Given the description of an element on the screen output the (x, y) to click on. 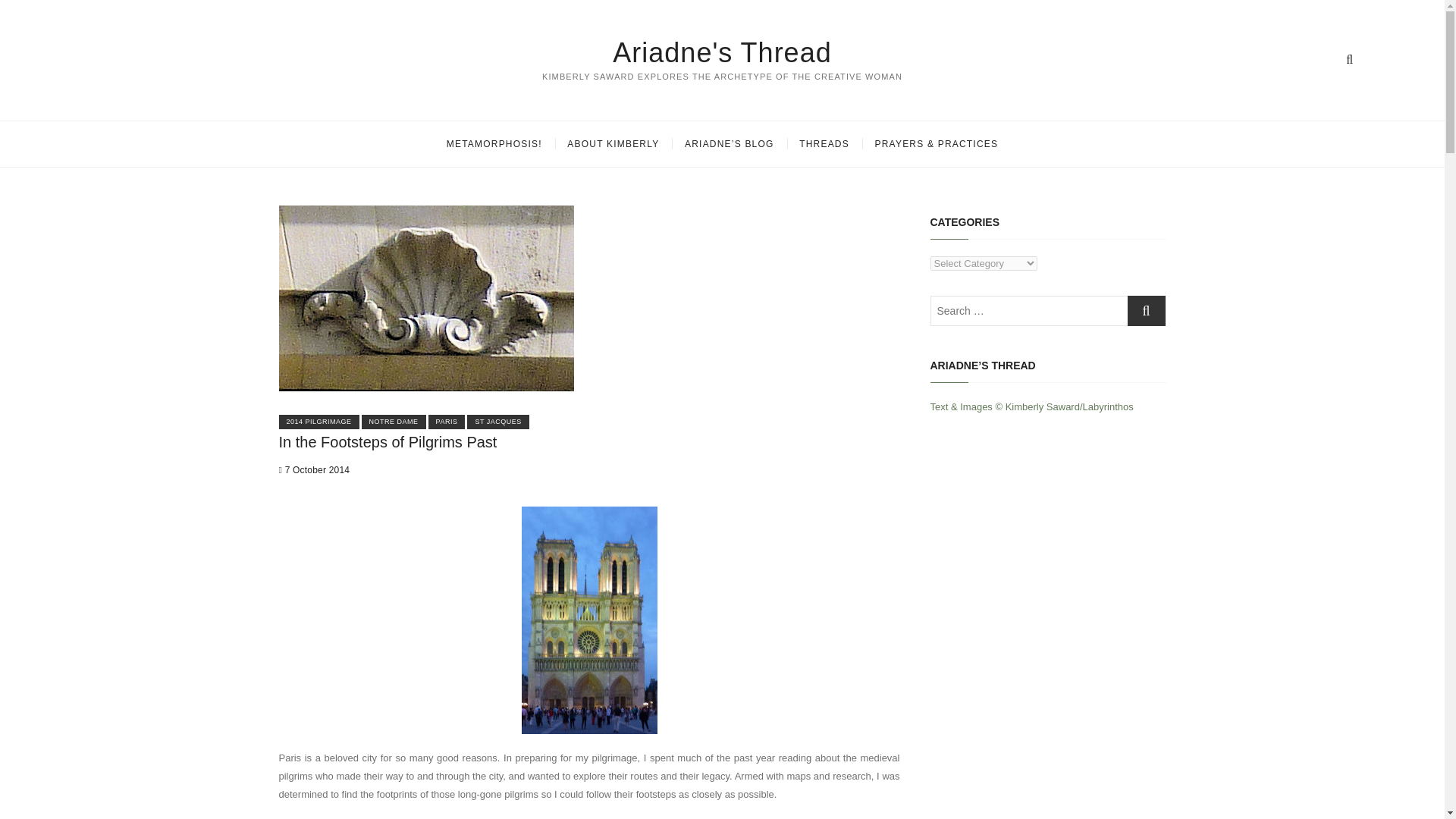
ABOUT KIMBERLY (612, 144)
THREADS (823, 144)
ST JACQUES (497, 421)
In the Footsteps of Pilgrims Past (388, 442)
7 October 2014 (314, 470)
Ariadne's Thread (722, 52)
7 October 2014 (314, 470)
METAMORPHOSIS! (494, 144)
Ariadne's Thread (722, 52)
In the Footsteps of Pilgrims Past (388, 442)
2014 PILGRIMAGE (319, 421)
PARIS (446, 421)
NOTRE DAME (393, 421)
